Given the description of an element on the screen output the (x, y) to click on. 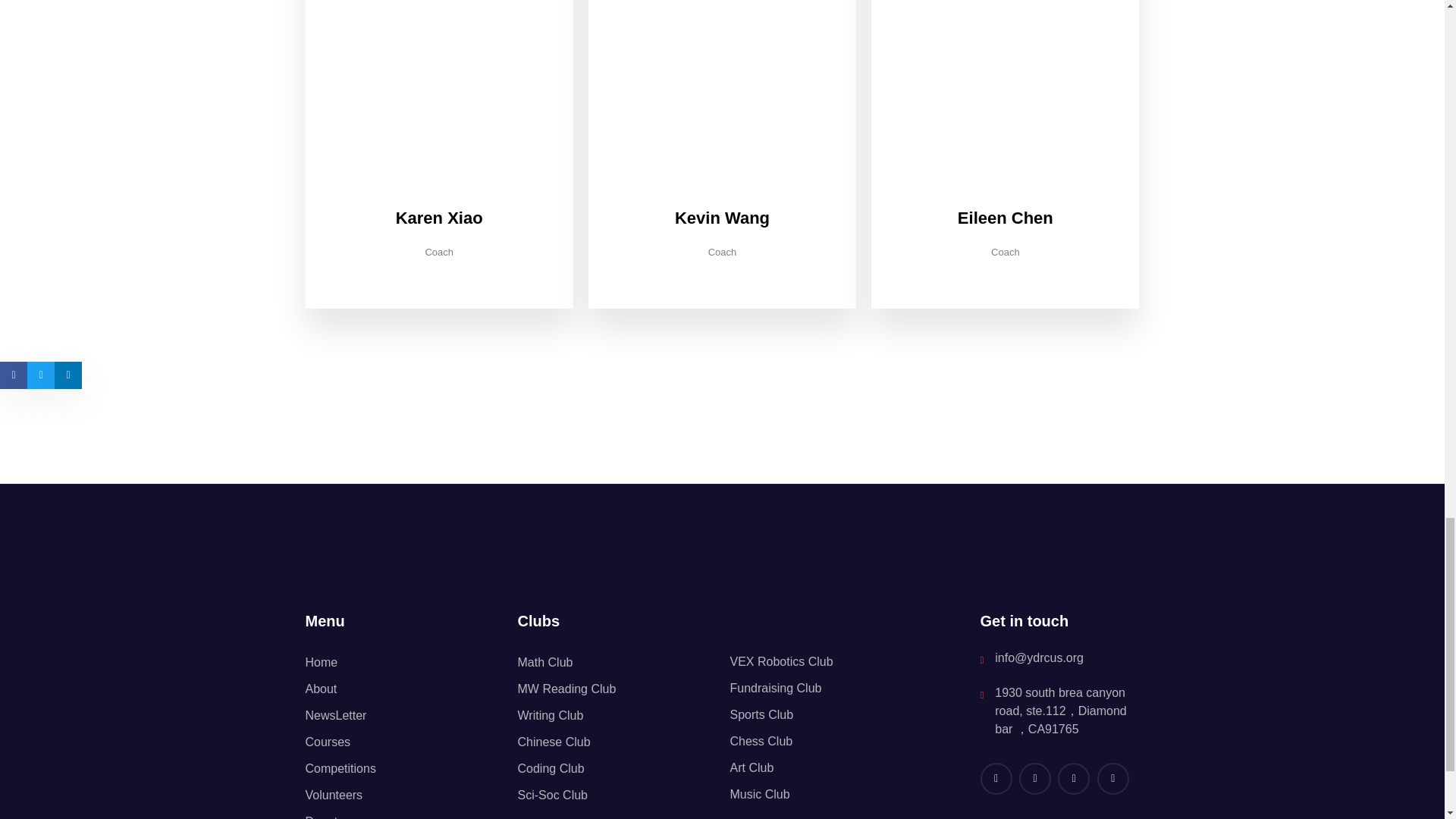
Karen Xiao (439, 217)
Kevin Wang (722, 217)
Eileen Chen (1005, 217)
